Given the description of an element on the screen output the (x, y) to click on. 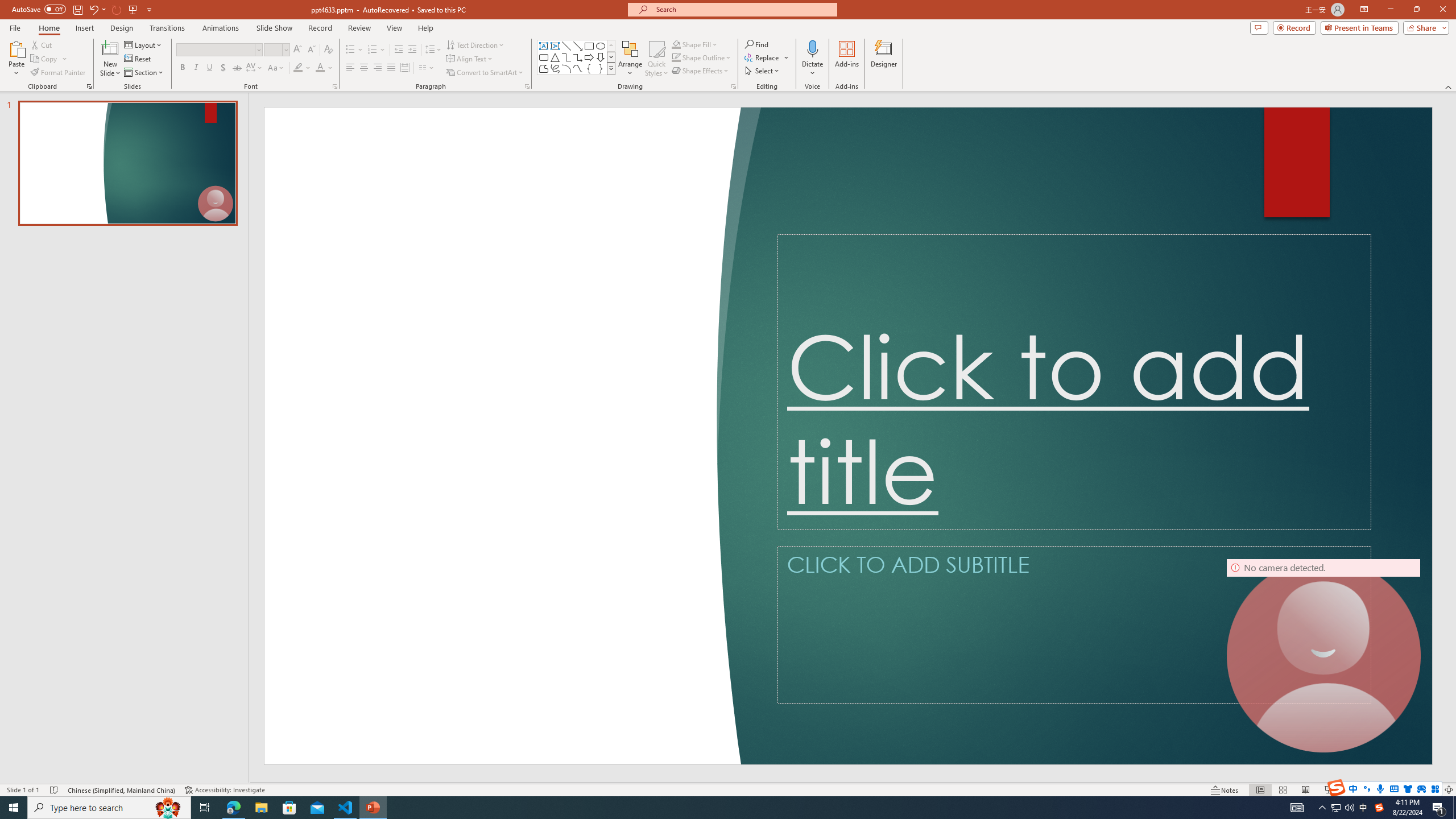
Shape Outline Dark Red, Accent 1 (675, 56)
